Given the description of an element on the screen output the (x, y) to click on. 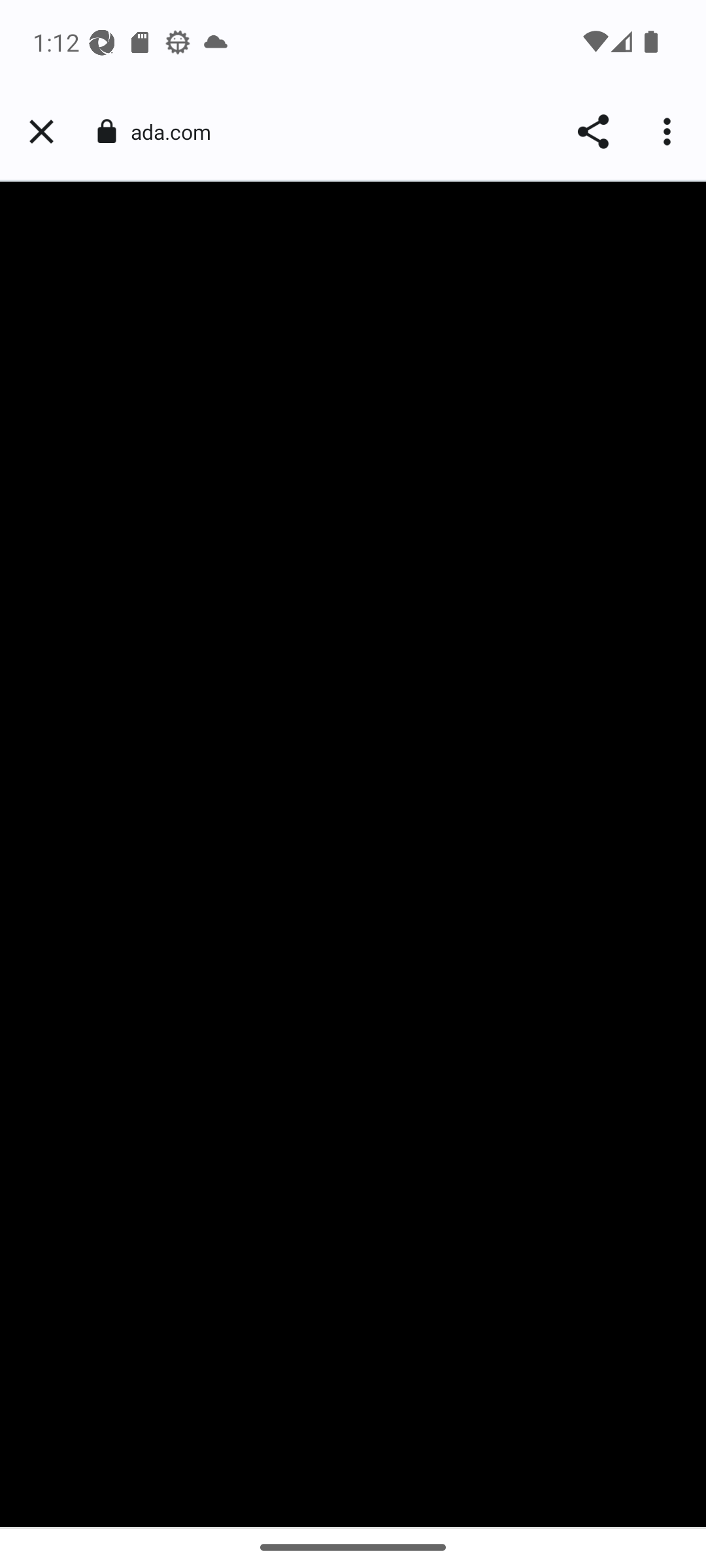
Close tab (41, 131)
Share (592, 131)
More options (669, 131)
Connection is secure (106, 131)
ada.com (177, 131)
